Given the description of an element on the screen output the (x, y) to click on. 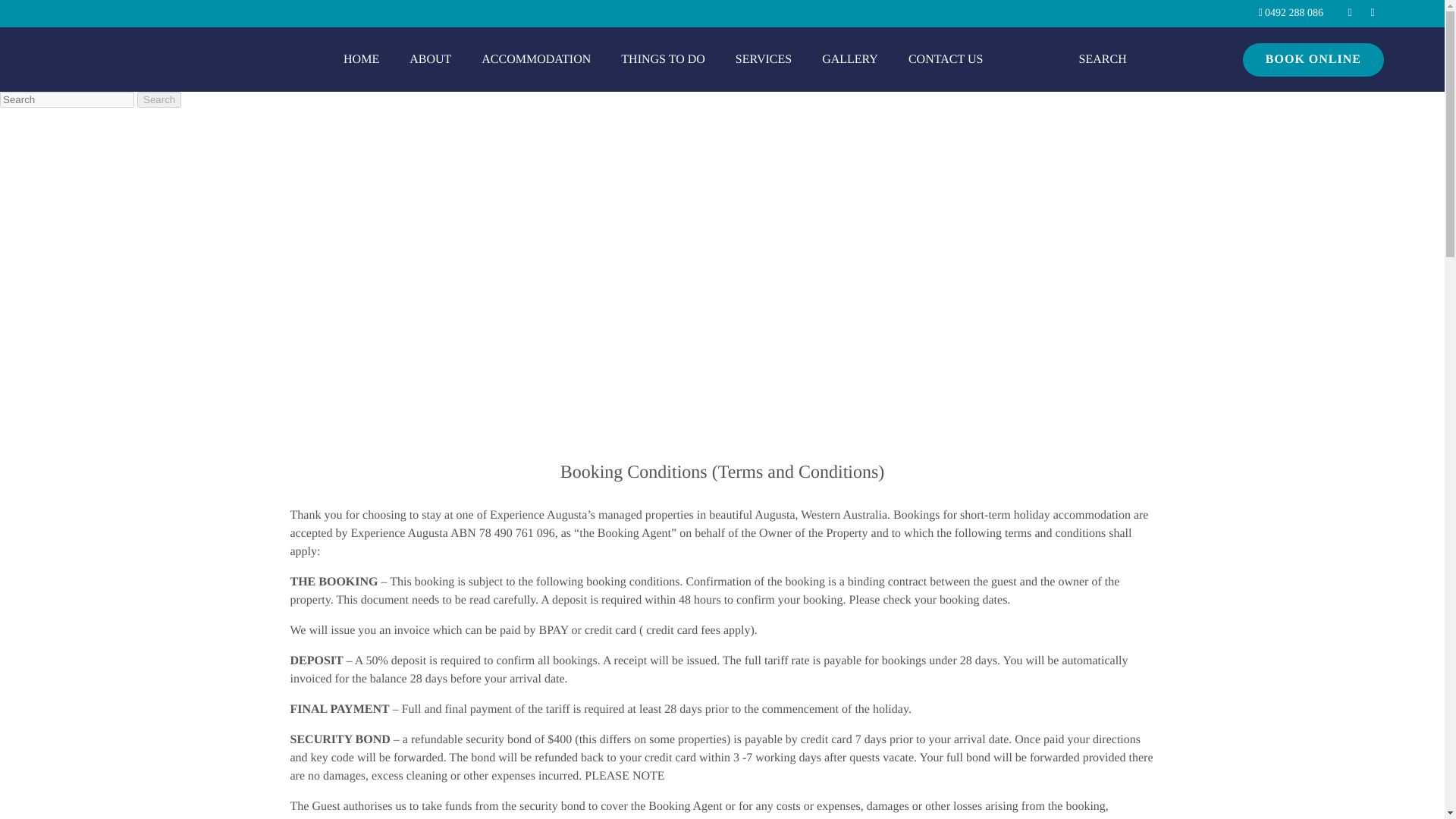
GALLERY (849, 59)
Search (158, 99)
Search (158, 99)
BOOK ONLINE (1313, 59)
CONTACT US (945, 59)
ABOUT (429, 59)
HOME (361, 59)
SERVICES (763, 59)
ACCOMMODATION (535, 59)
THINGS TO DO (662, 59)
0492 288 086 (1290, 13)
SEARCH (1102, 59)
